Given the description of an element on the screen output the (x, y) to click on. 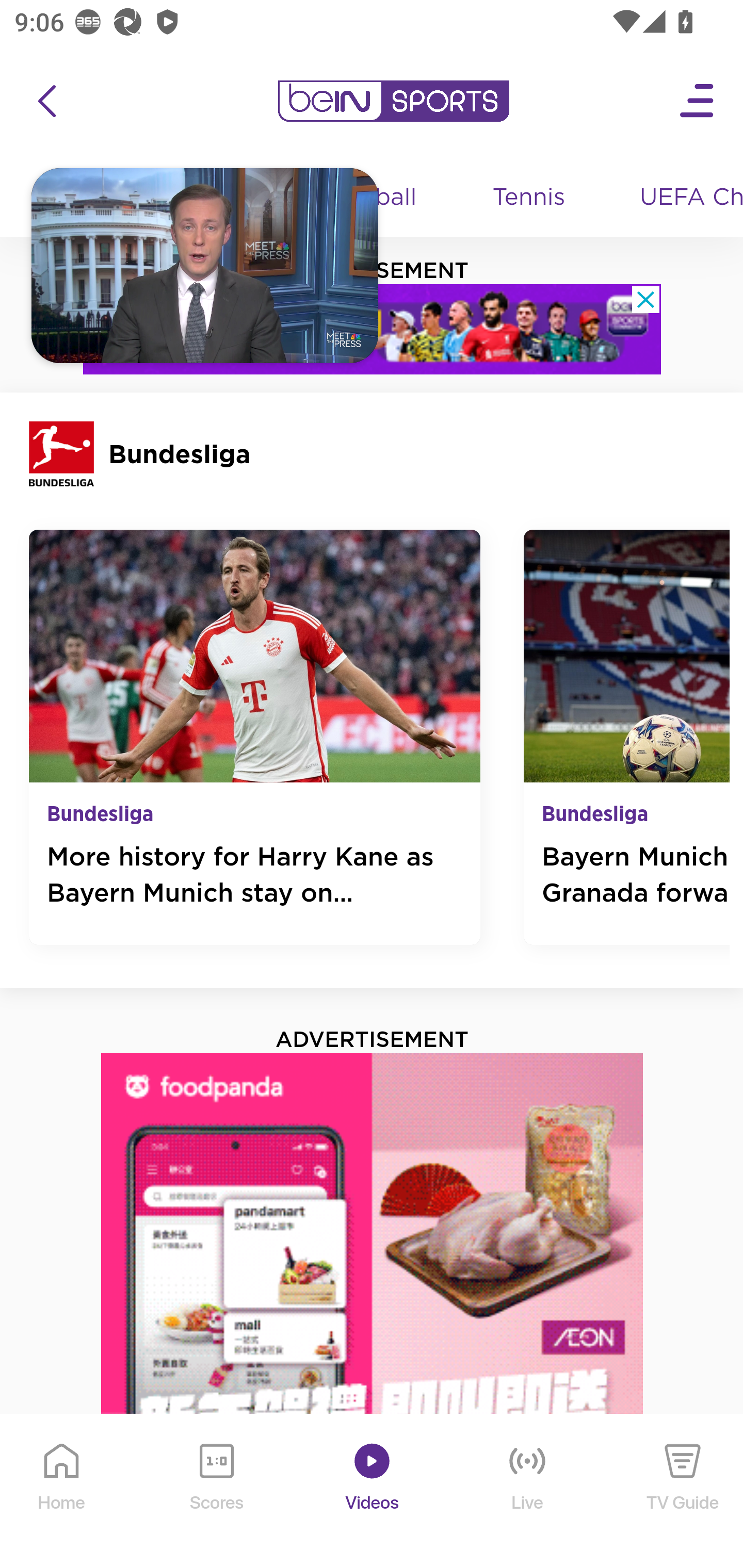
en-my?platform=mobile_android bein logo (392, 101)
icon back (46, 101)
Open Menu Icon (697, 101)
Tennis (530, 198)
UEFA Champions League (683, 198)
Advertisement (372, 1310)
Home Home Icon Home (61, 1491)
Scores Scores Icon Scores (216, 1491)
Videos Videos Icon Videos (372, 1491)
TV Guide TV Guide Icon TV Guide (682, 1491)
